Given the description of an element on the screen output the (x, y) to click on. 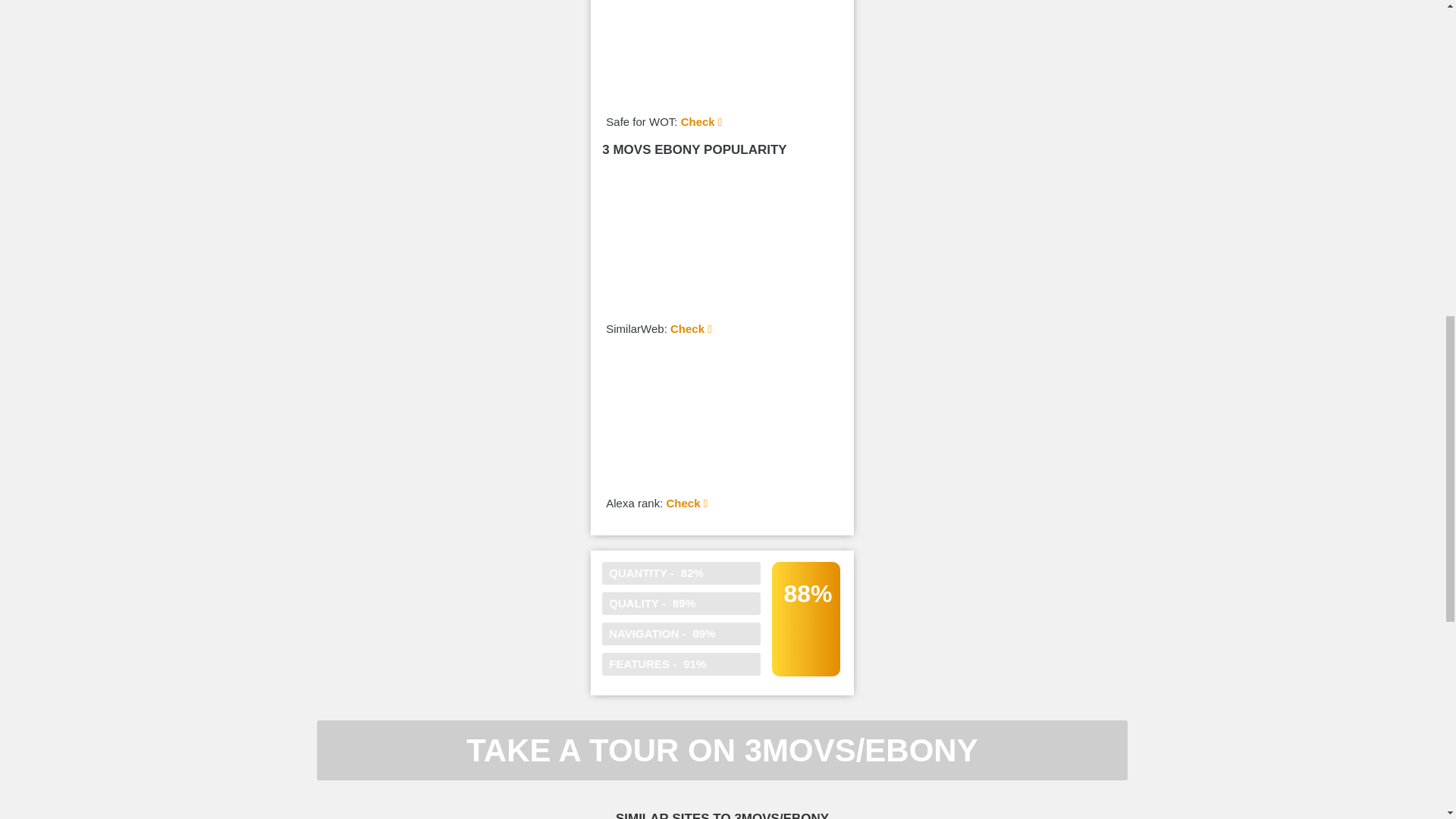
Check (686, 502)
Check (690, 328)
Check (701, 121)
